Given the description of an element on the screen output the (x, y) to click on. 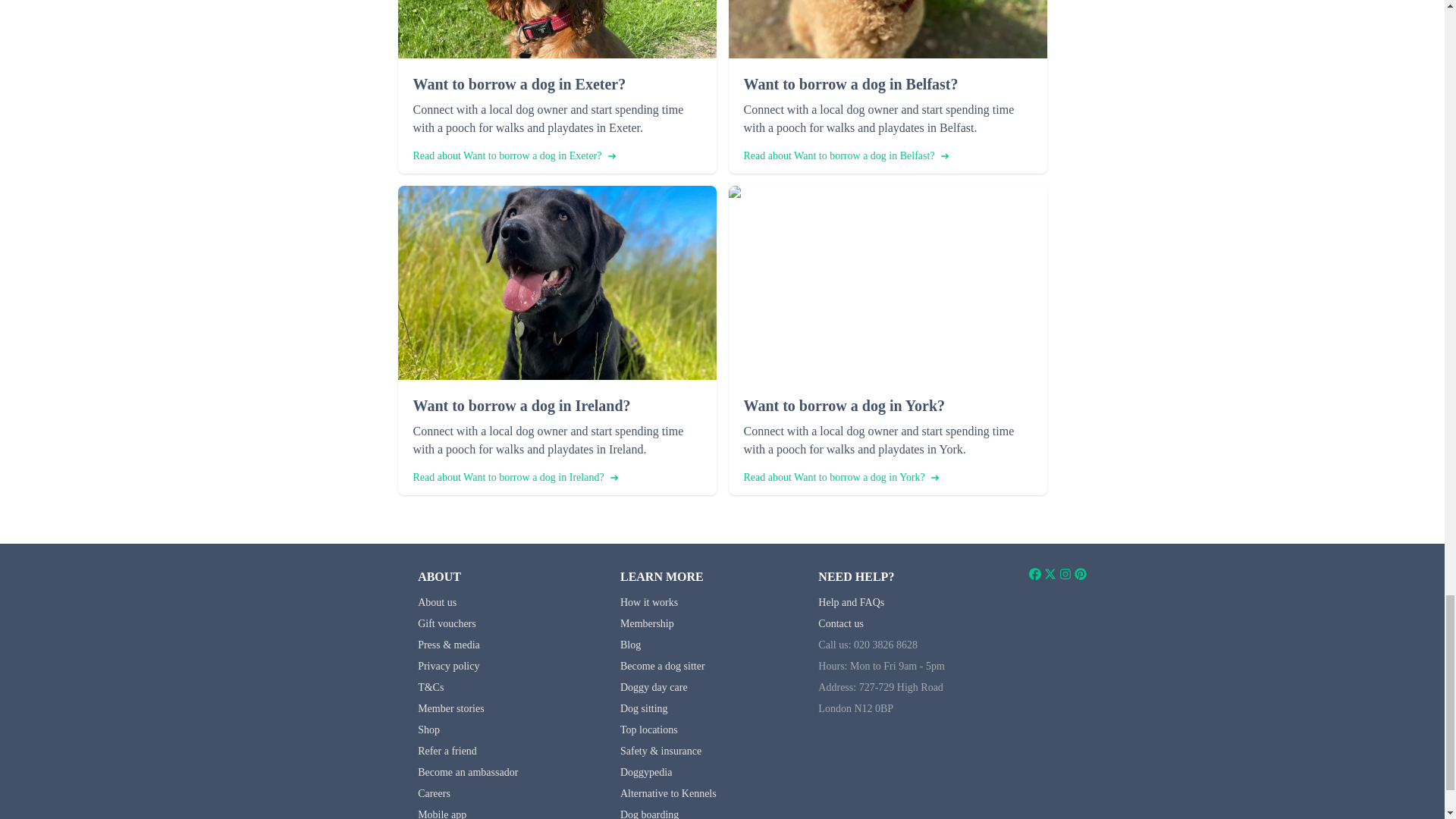
Privacy policy (448, 665)
Read about Want to borrow a dog in York? (839, 477)
Read about Want to borrow a dog in Belfast? (844, 155)
Want to borrow a dog in Exeter? (556, 84)
Read about Want to borrow a dog in Ireland? (514, 477)
Want to borrow a dog in Ireland? (556, 405)
Member stories (450, 708)
Want to borrow a dog in Belfast? (886, 84)
Read about Want to borrow a dog in Exeter? (513, 155)
About us (437, 602)
Become an ambassador (467, 772)
Want to borrow a dog in York? (886, 405)
Refer a friend (447, 750)
Gift vouchers (446, 623)
Shop (428, 729)
